Given the description of an element on the screen output the (x, y) to click on. 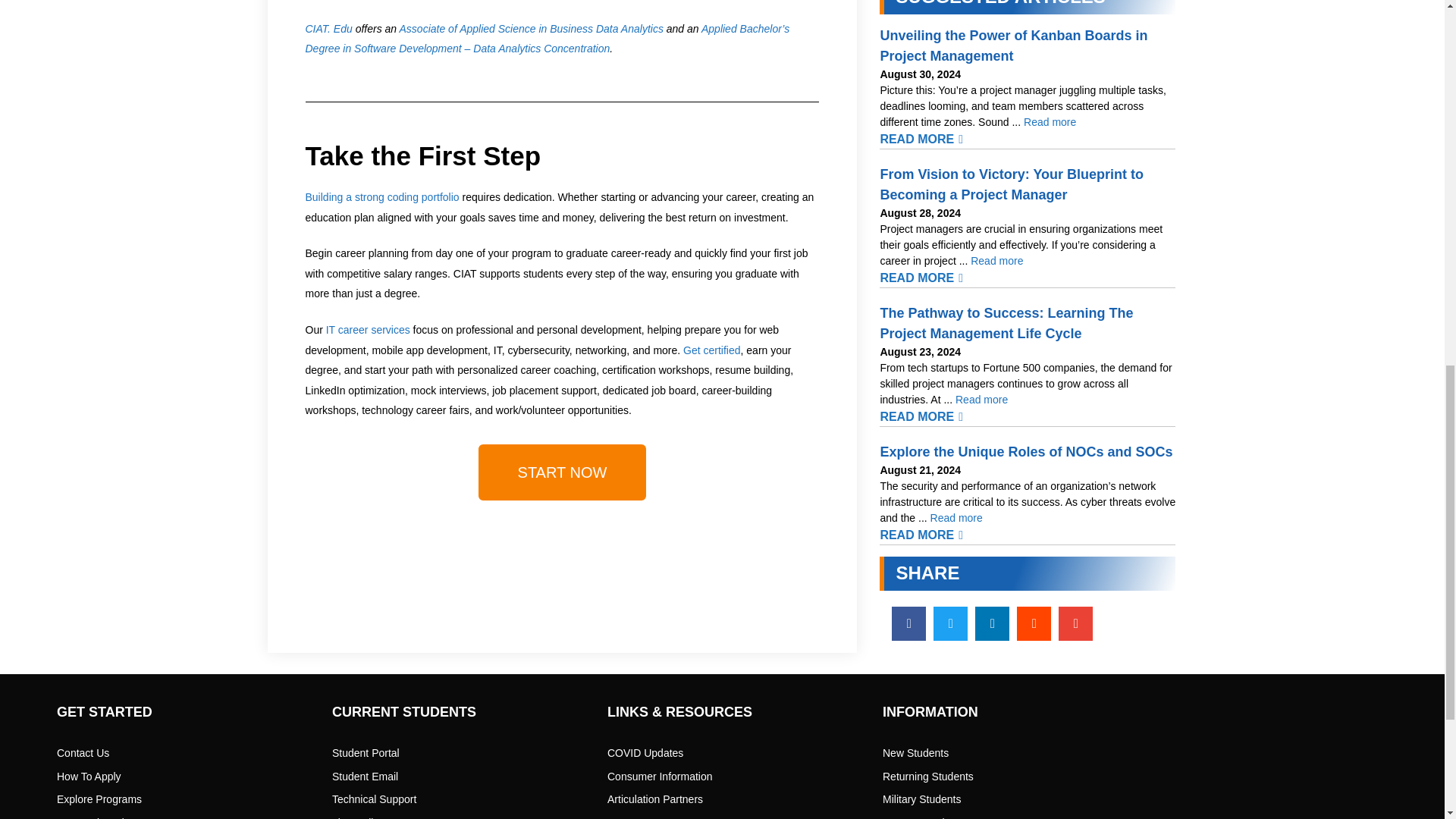
Explore the Unique Roles of NOCs and SOCs (956, 517)
Unveiling the Power of Kanban Boards in Project Management (1049, 121)
